Given the description of an element on the screen output the (x, y) to click on. 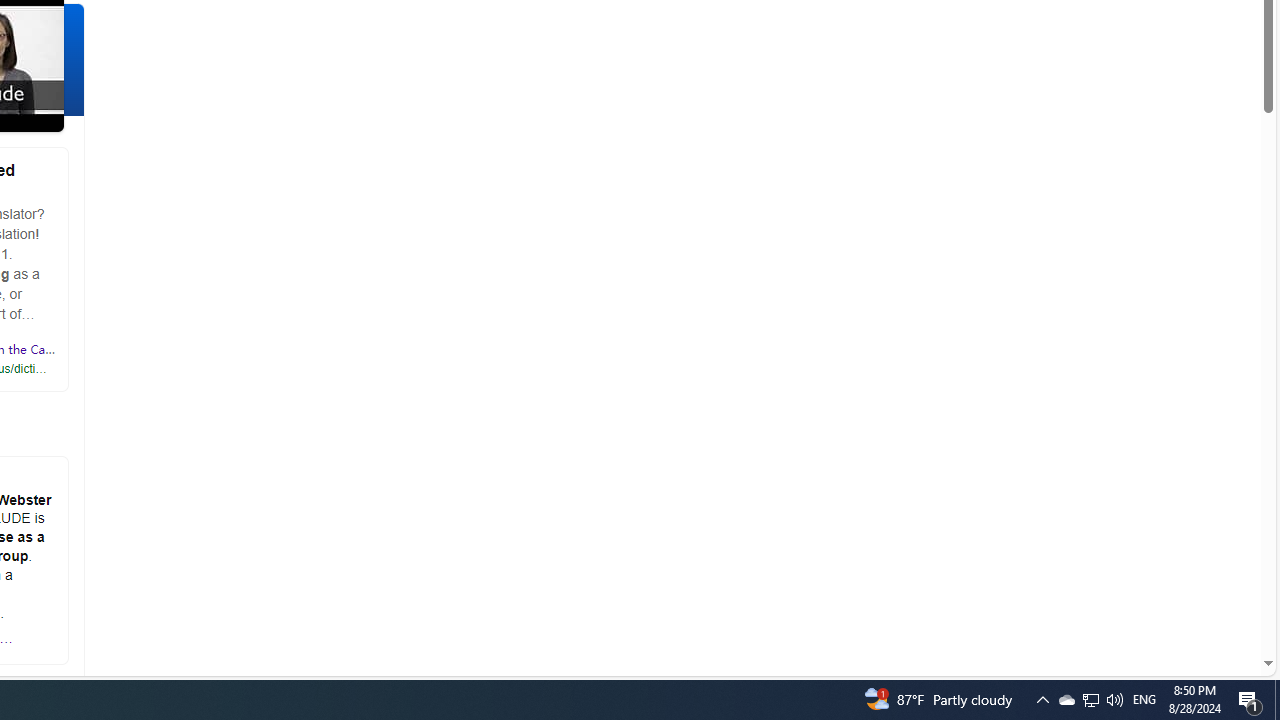
Search more (1222, 604)
AutomationID: mfa_root (1192, 603)
